Given the description of an element on the screen output the (x, y) to click on. 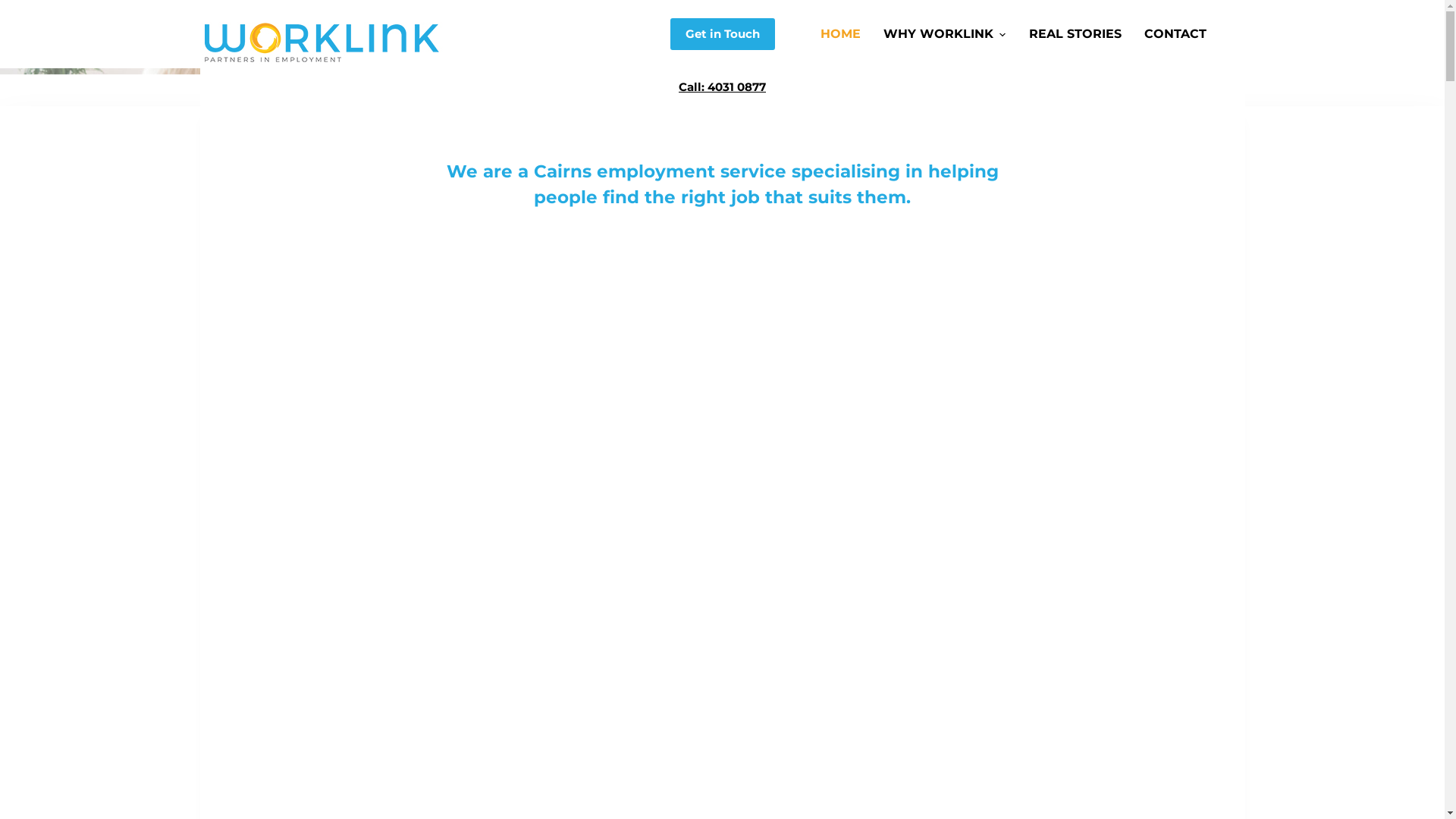
REAL STORIES Element type: text (1153, 647)
REAL STORIES Element type: text (1075, 33)
WHY WORKLINK Element type: text (944, 33)
HOME Element type: text (845, 33)
CONTACT Element type: text (1221, 647)
Skip to content Element type: text (15, 7)
Call: 4031 0877 Element type: text (721, 86)
WHY WORKLINK Element type: text (1067, 647)
HOME Element type: text (1002, 647)
CONTACT Element type: text (1169, 33)
Get in Touch Element type: text (722, 34)
